Given the description of an element on the screen output the (x, y) to click on. 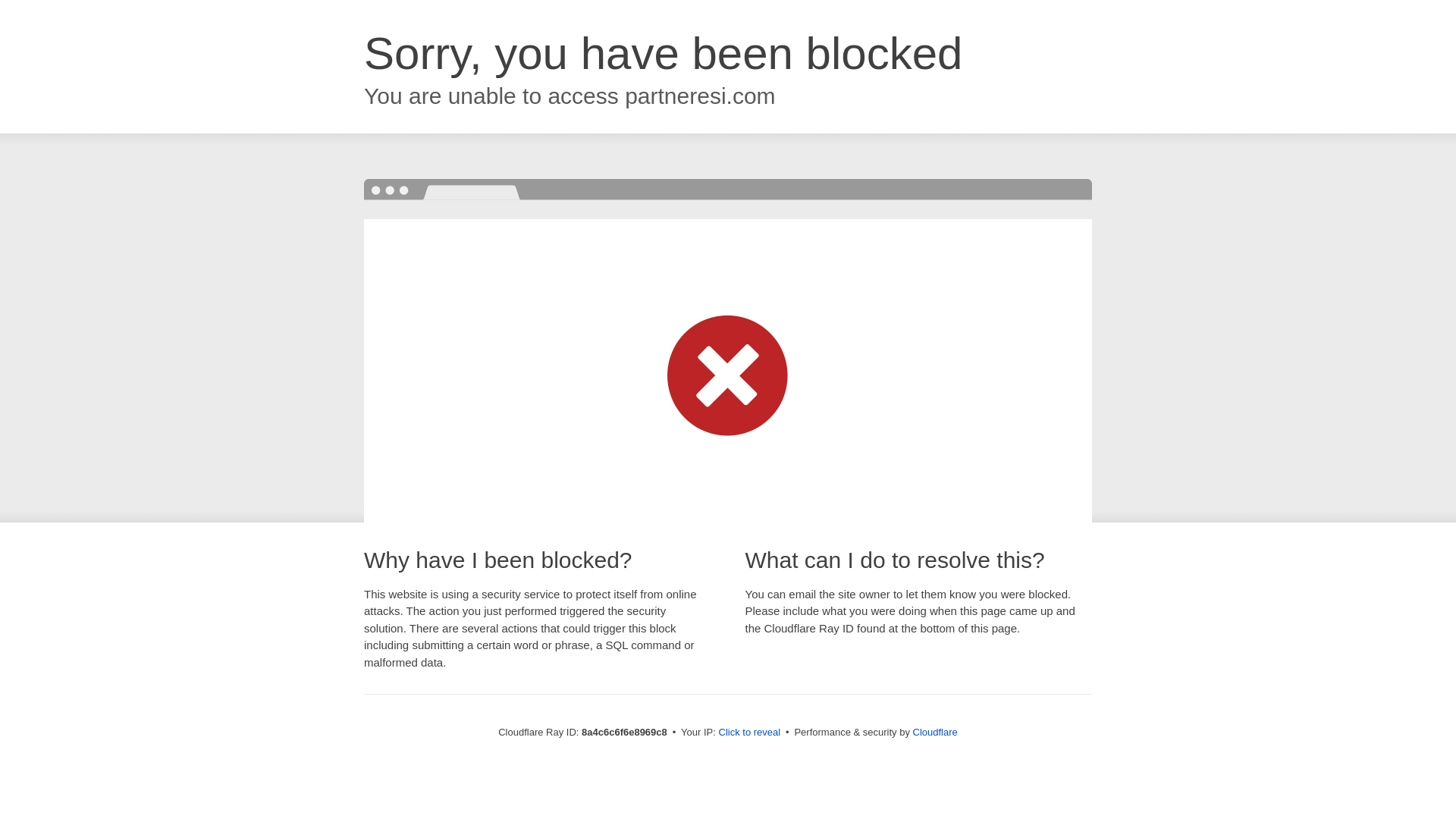
Cloudflare (935, 731)
Click to reveal (749, 732)
